Given the description of an element on the screen output the (x, y) to click on. 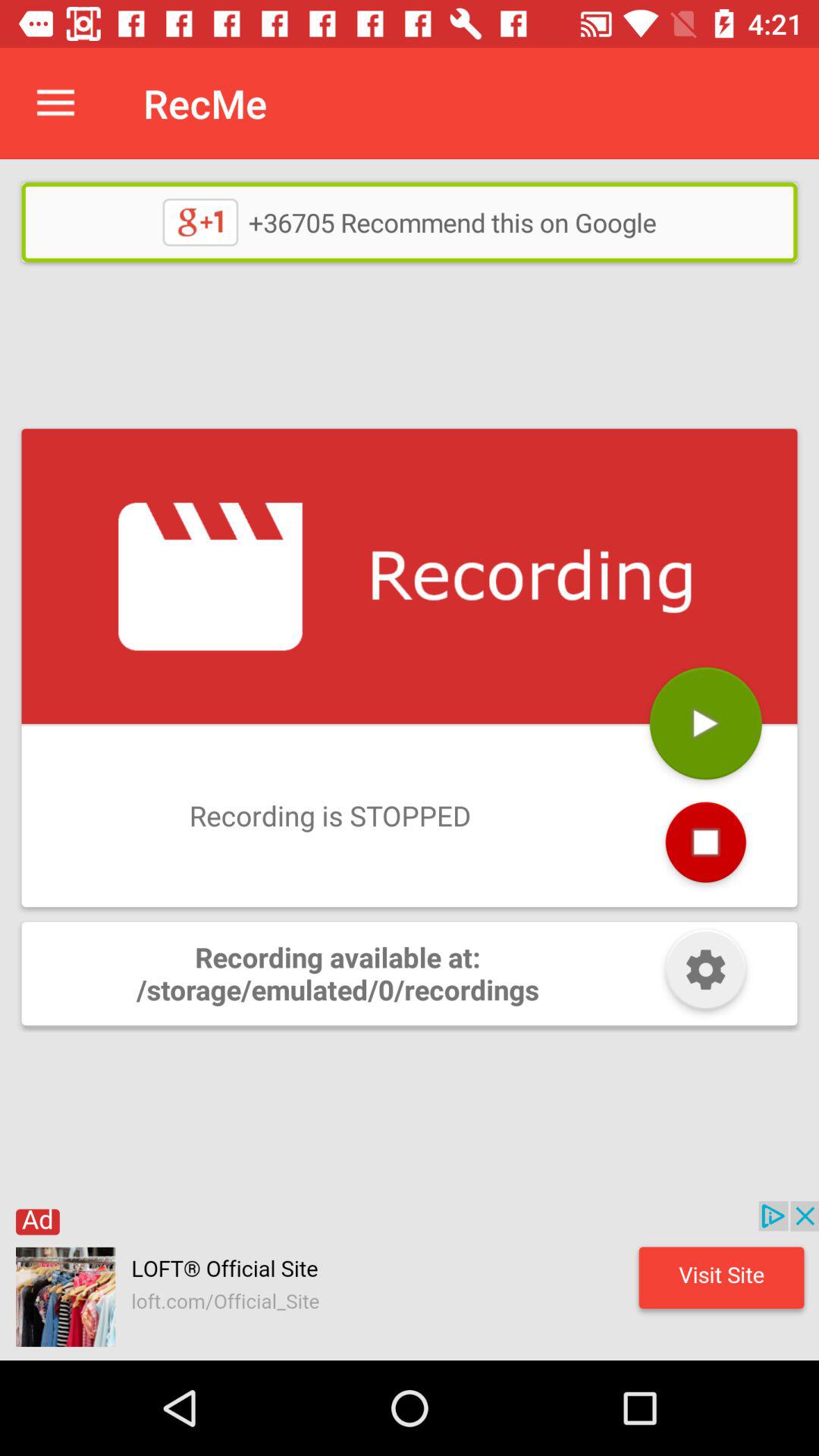
advertisement banner (409, 1280)
